Given the description of an element on the screen output the (x, y) to click on. 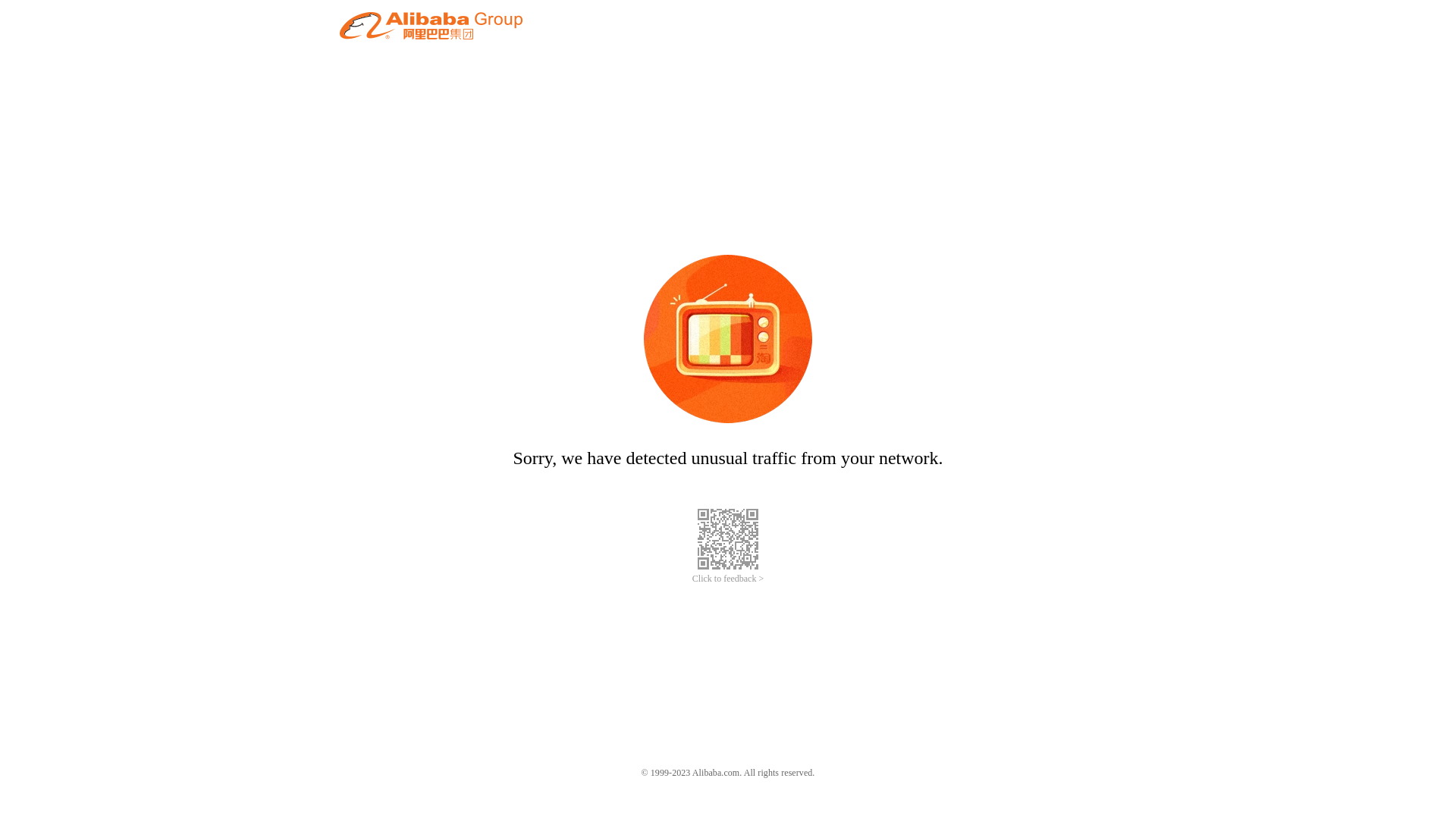
Click to feedback > Element type: text (727, 578)
